Given the description of an element on the screen output the (x, y) to click on. 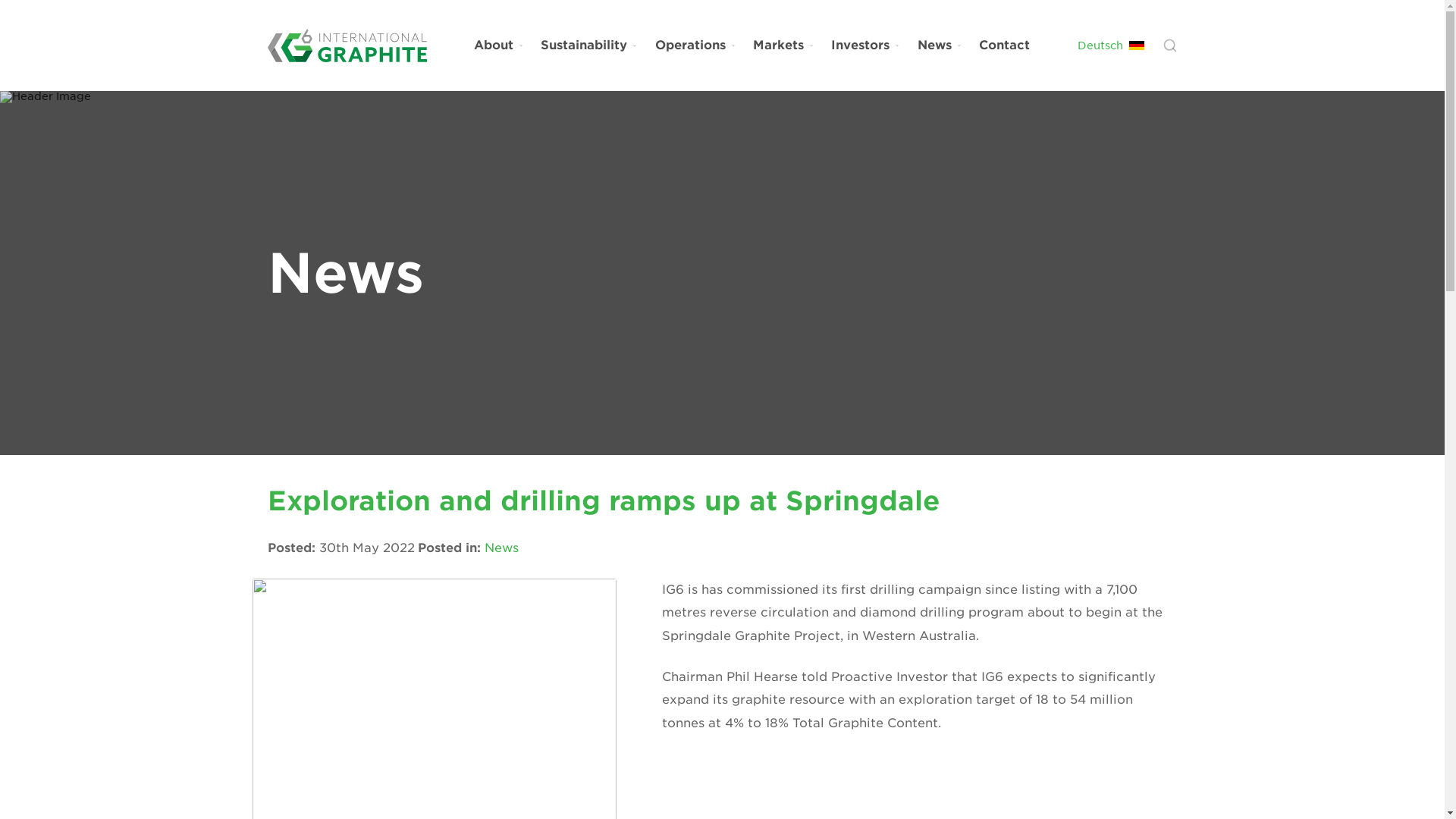
Deutsch (1109, 45)
News (939, 44)
Sustainability (589, 44)
About (498, 44)
Contact (1004, 44)
Investors (865, 44)
News (500, 547)
Operations (695, 44)
Markets (783, 44)
